Given the description of an element on the screen output the (x, y) to click on. 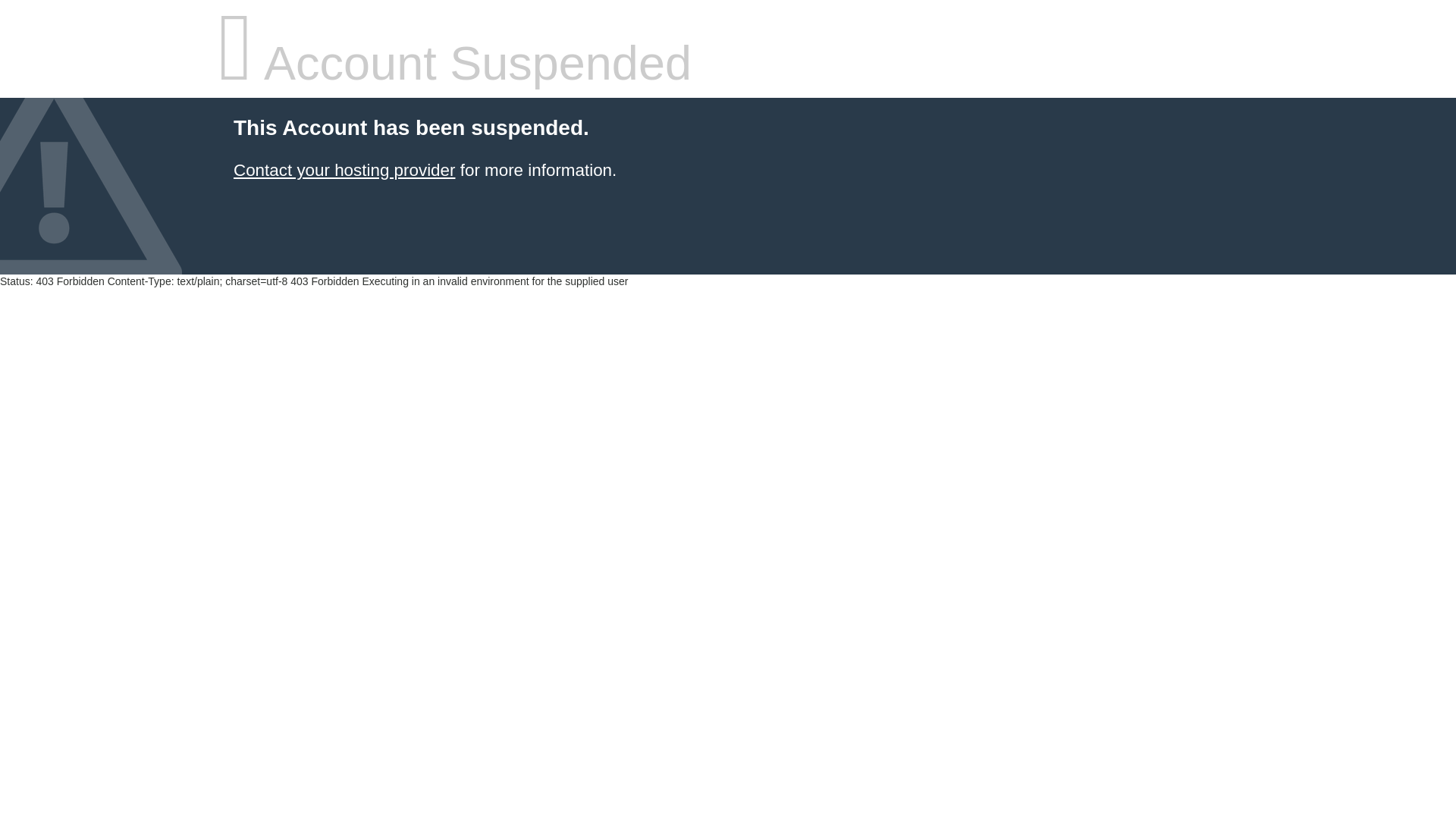
Contact your hosting provider (343, 169)
